Given the description of an element on the screen output the (x, y) to click on. 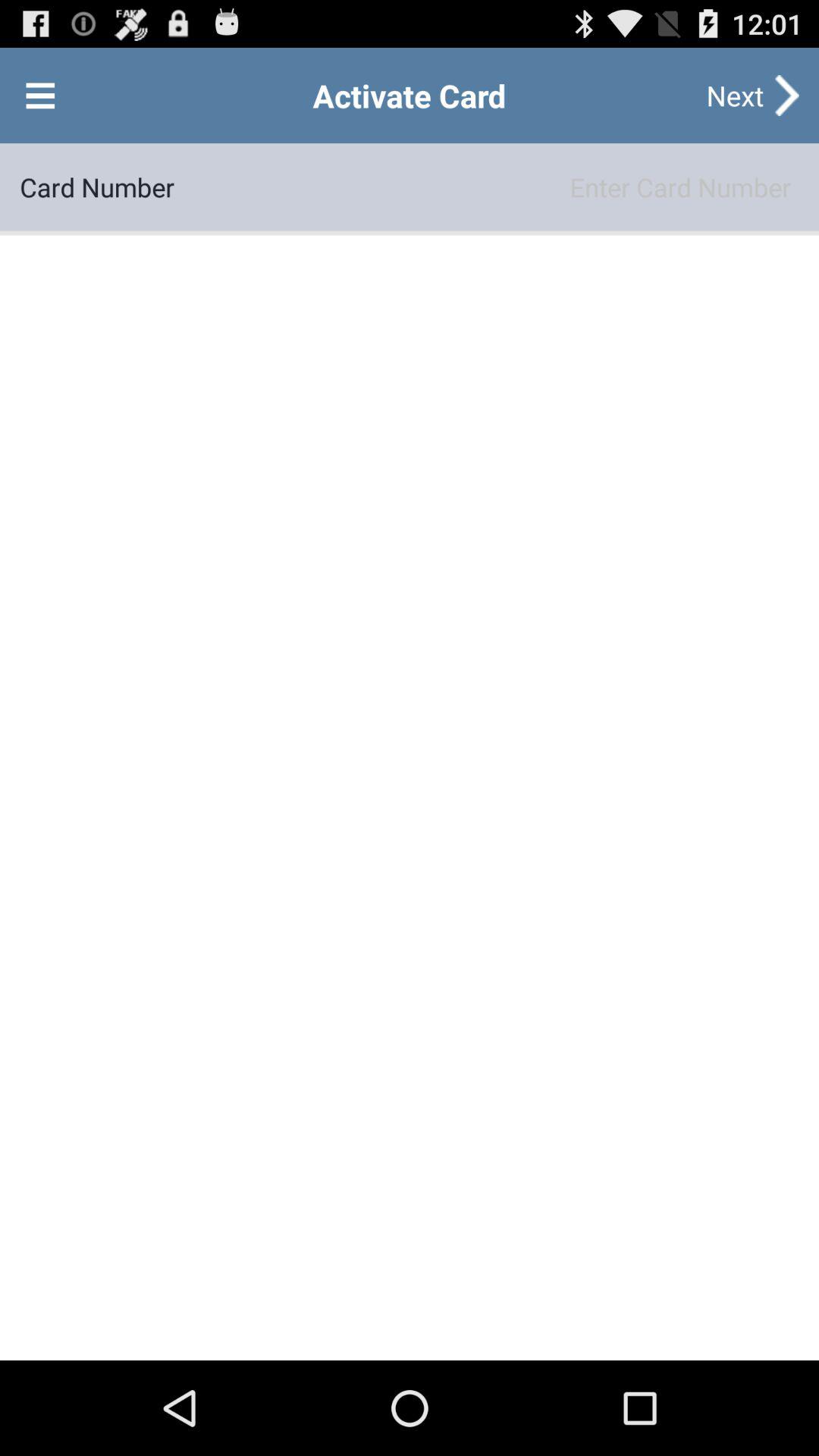
launch item next to activate card icon (39, 95)
